Given the description of an element on the screen output the (x, y) to click on. 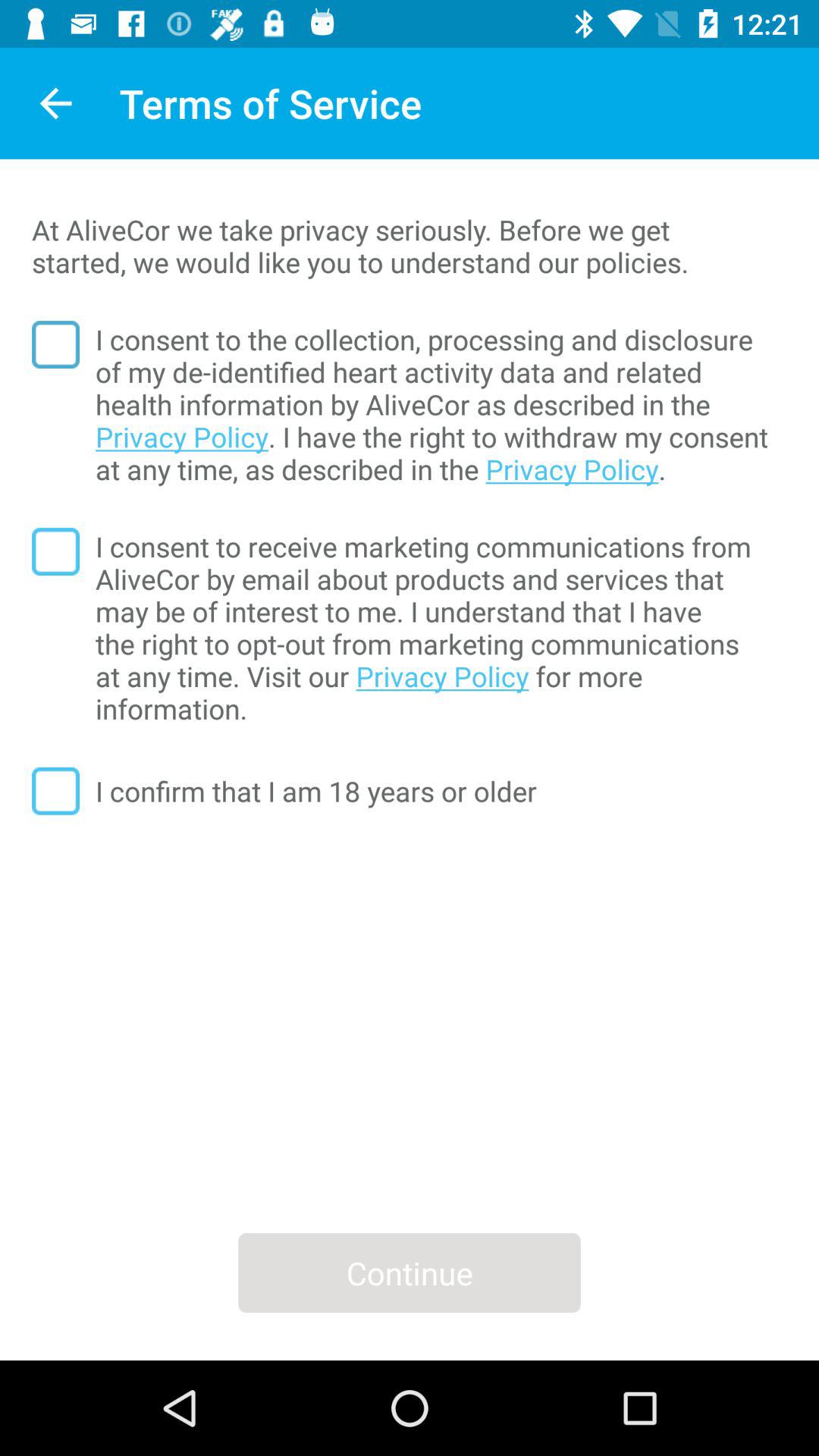
press app next to the terms of service icon (55, 103)
